Given the description of an element on the screen output the (x, y) to click on. 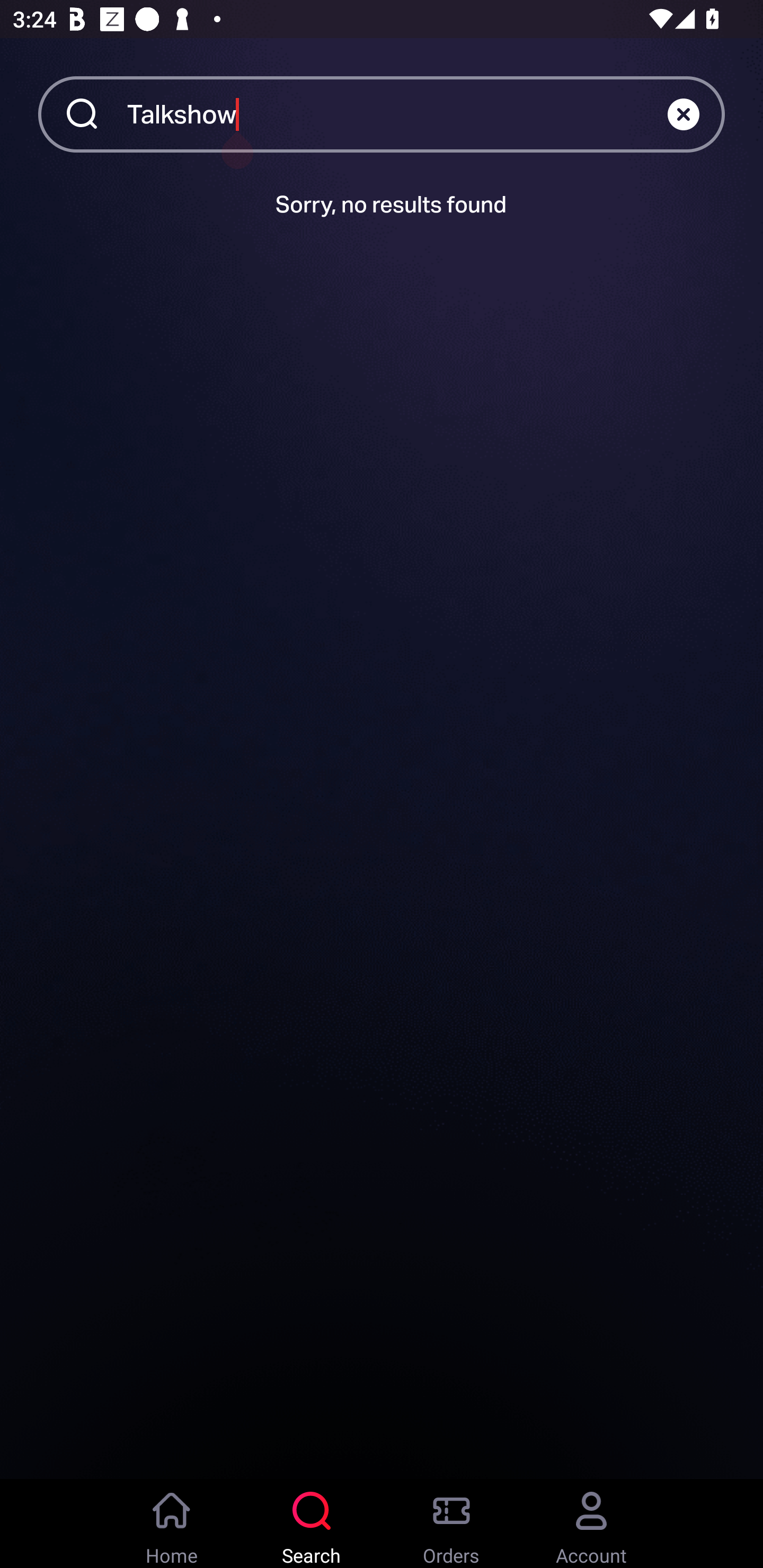
Talkshow (397, 113)
Home (171, 1523)
Orders (451, 1523)
Account (591, 1523)
